Given the description of an element on the screen output the (x, y) to click on. 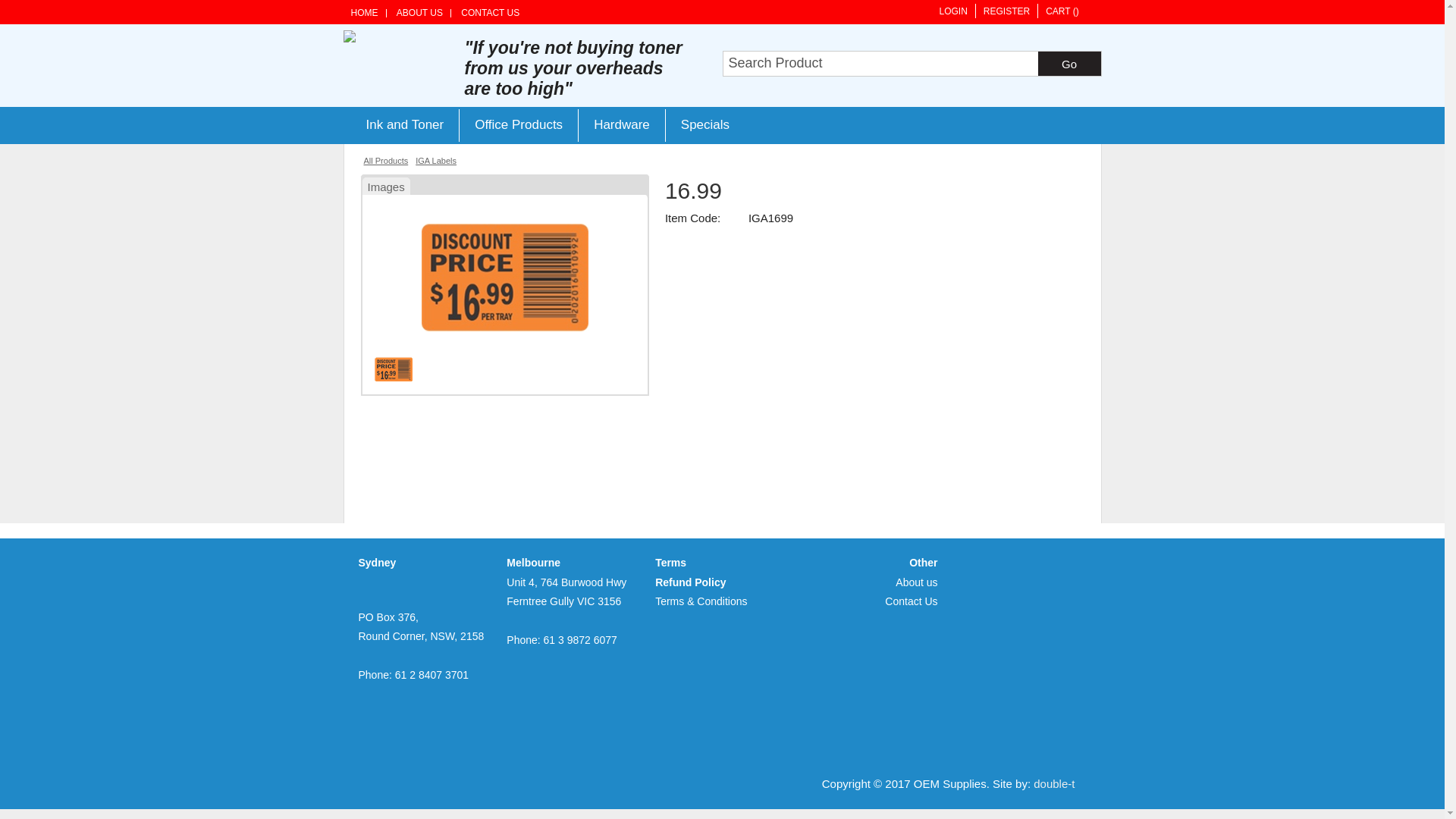
16.99 Element type: hover (504, 326)
Hardware Element type: text (621, 125)
All Products Element type: text (386, 160)
Office Products Element type: text (517, 125)
Show this Image Element type: hover (393, 369)
REGISTER Element type: text (1006, 10)
ABOUT US Element type: text (420, 13)
IGA Labels Element type: text (435, 160)
HOME Element type: text (367, 13)
Terms & Conditions Element type: text (700, 601)
double-t Element type: text (1053, 783)
Refund Policy Element type: text (690, 582)
LOGIN Element type: text (952, 10)
About us Element type: text (916, 582)
Ink and Toner Element type: text (404, 125)
CONTACT US Element type: text (490, 13)
Images Element type: text (385, 184)
Contact Us Element type: text (910, 601)
CART () Element type: text (1061, 10)
Go Element type: text (1068, 63)
Specials Element type: text (704, 125)
Click to Enlarge Element type: hover (504, 276)
